Given the description of an element on the screen output the (x, y) to click on. 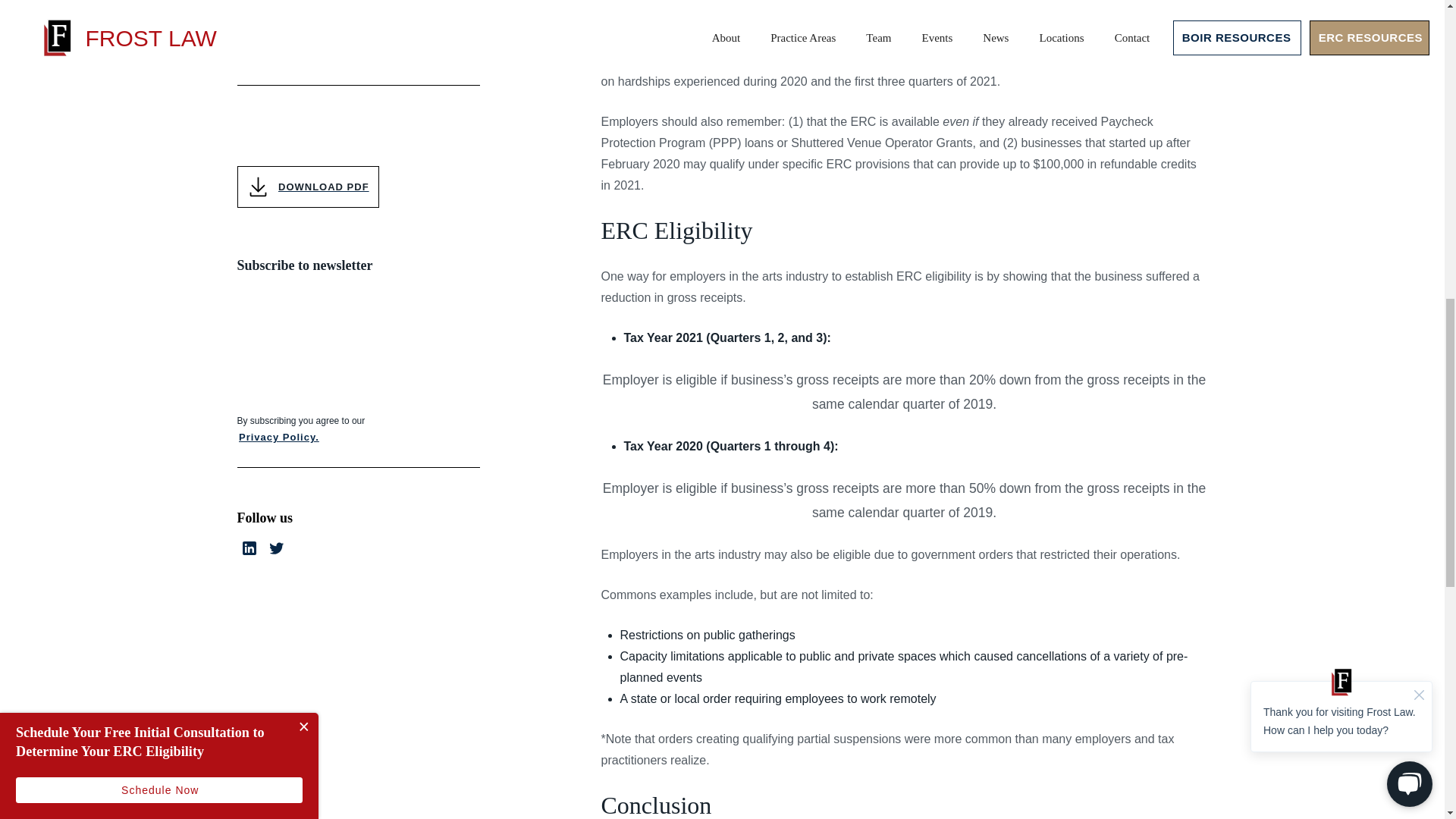
Privacy Policy. (276, 83)
Form 0 (357, 28)
